Given the description of an element on the screen output the (x, y) to click on. 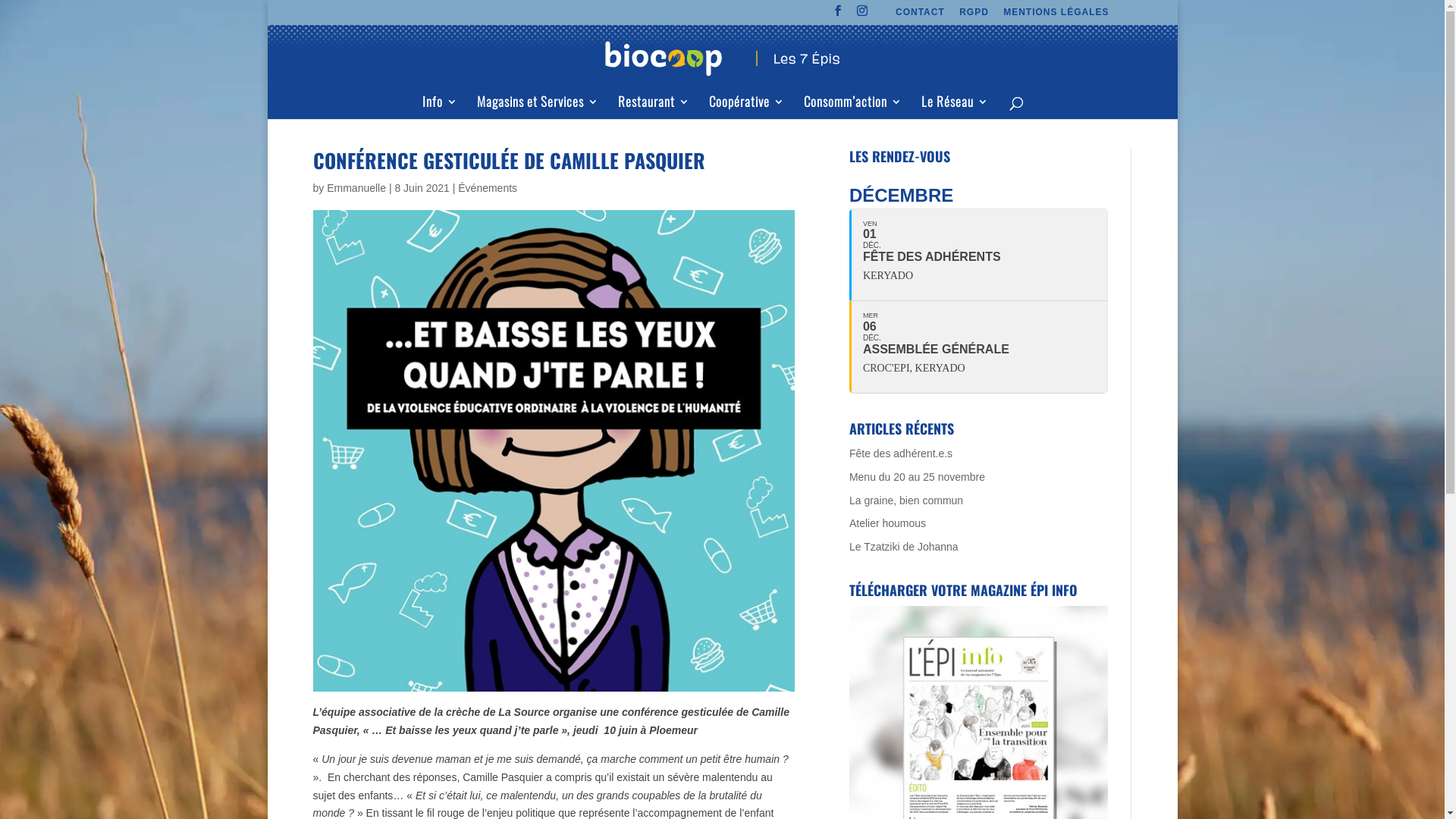
Restaurant Element type: text (653, 106)
Magasins et Services Element type: text (537, 106)
Menu du 20 au 25 novembre Element type: text (917, 476)
Le Tzatziki de Johanna Element type: text (903, 546)
Atelier houmous Element type: text (887, 523)
Emmanuelle Element type: text (355, 188)
RGPD Element type: text (973, 15)
CONTACT Element type: text (919, 15)
La graine, bien commun Element type: text (906, 500)
Lien Facebook alt= Element type: hover (838, 15)
Lien Instagram alt= Element type: hover (862, 15)
Info Element type: text (439, 106)
